Given the description of an element on the screen output the (x, y) to click on. 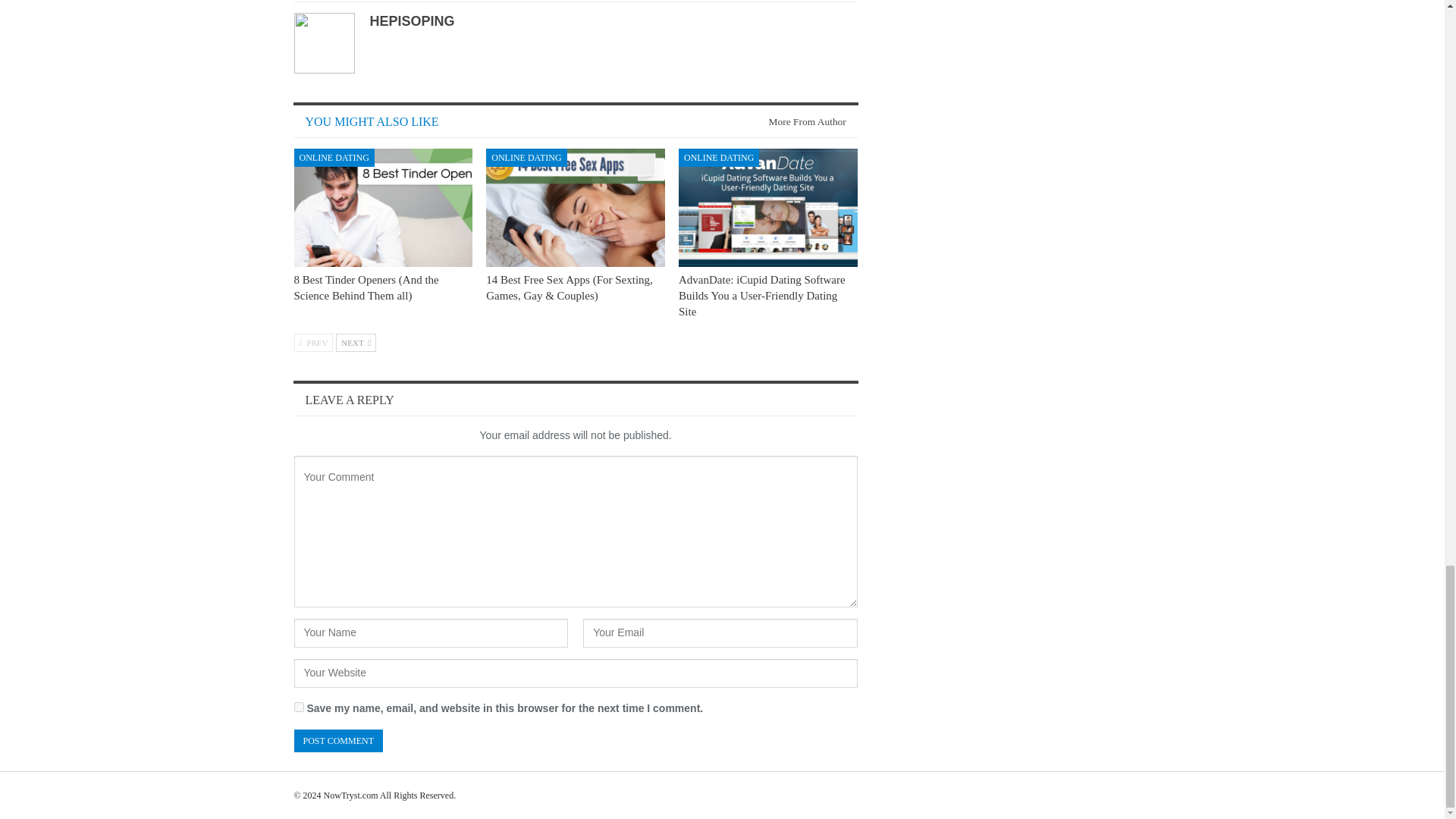
Post Comment (338, 740)
Next (355, 342)
yes (299, 706)
Browse Author Articles (820, 0)
Previous (313, 342)
